Given the description of an element on the screen output the (x, y) to click on. 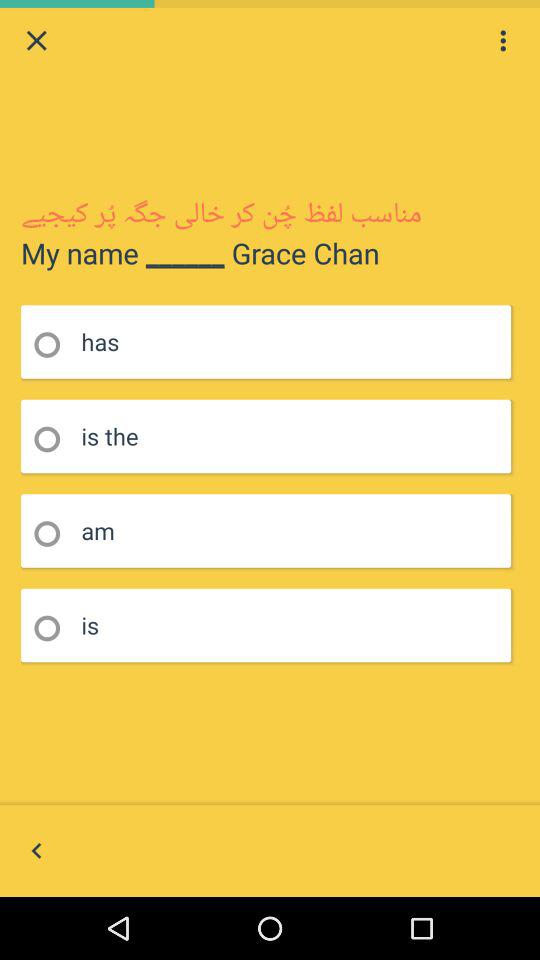
select for options (503, 40)
